Given the description of an element on the screen output the (x, y) to click on. 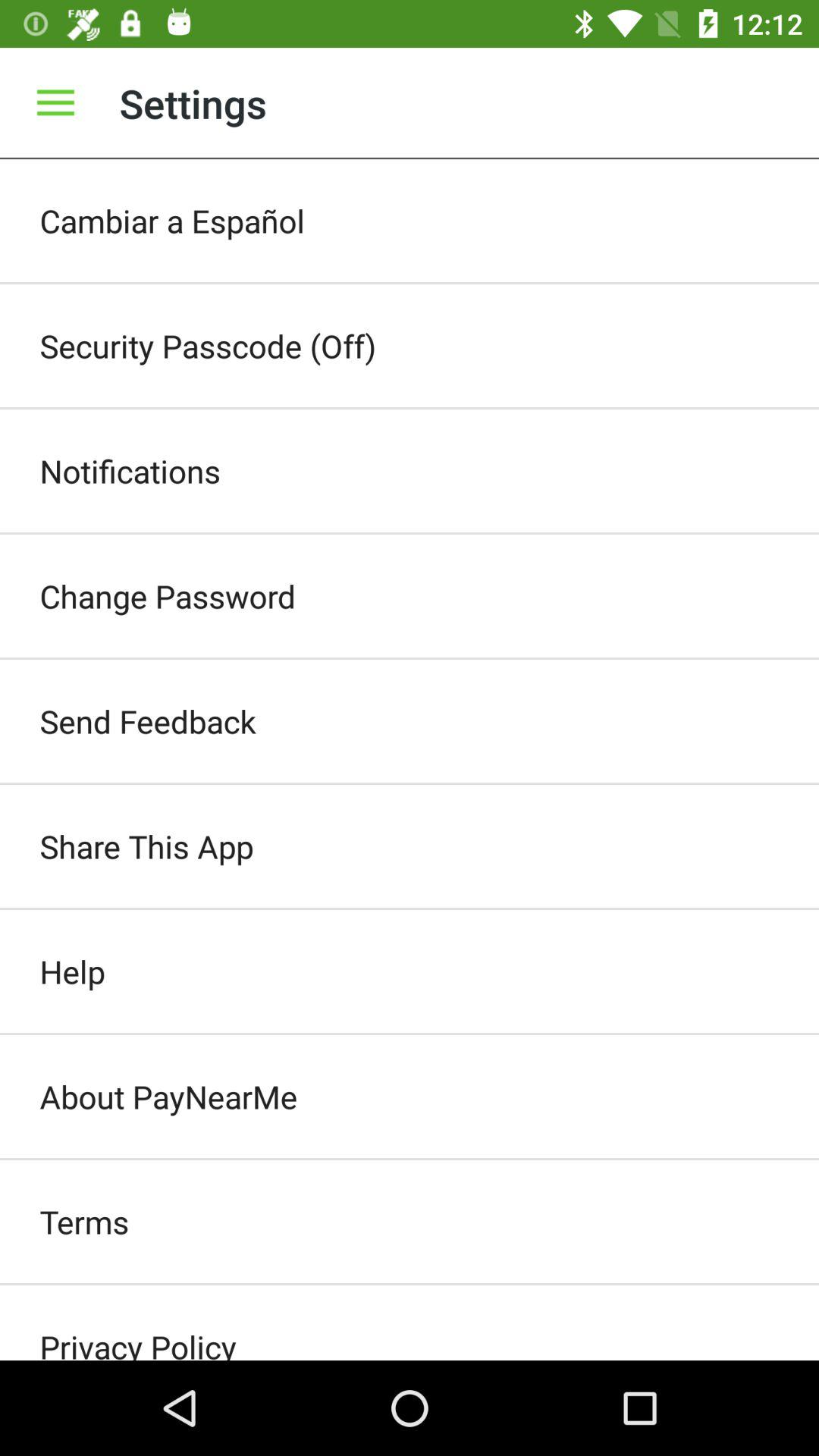
click icon above change password icon (409, 470)
